Given the description of an element on the screen output the (x, y) to click on. 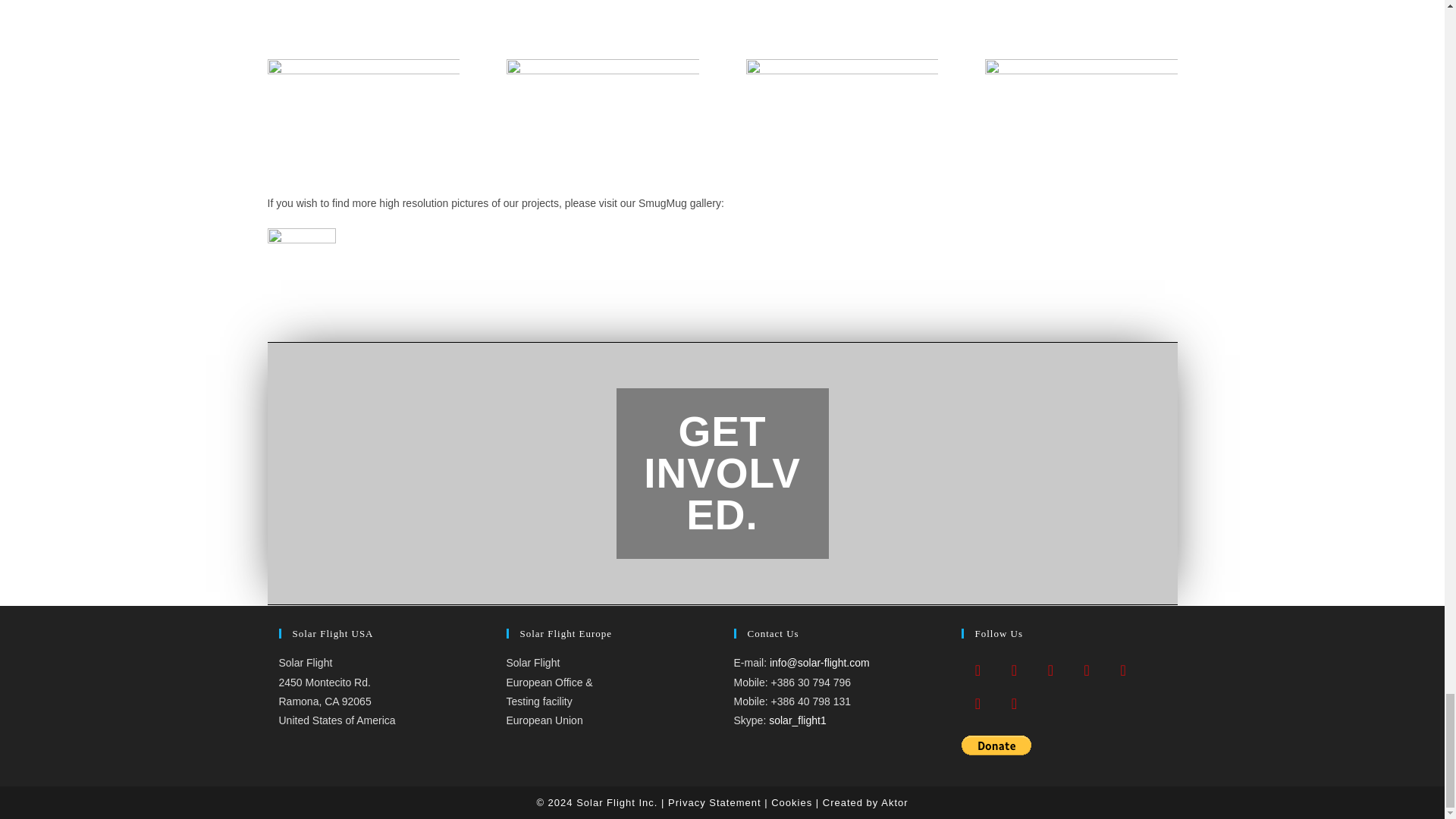
Default Label (1086, 669)
Instagram (1013, 669)
Default Label (1123, 669)
Default Label (977, 702)
Facebook (977, 669)
Default Label (1013, 702)
Default Label (1050, 669)
